Given the description of an element on the screen output the (x, y) to click on. 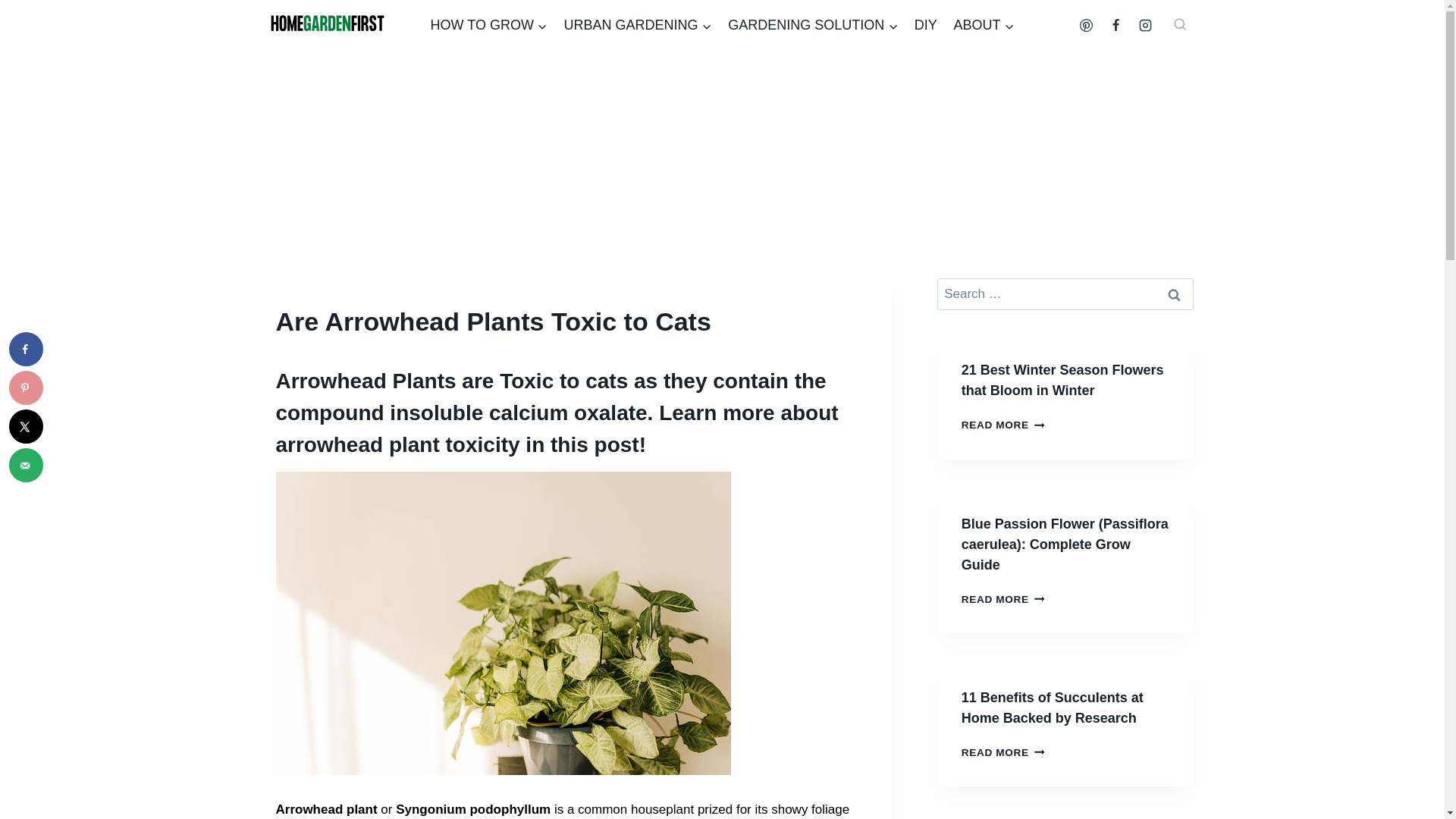
HOW TO GROW (489, 25)
Share on Facebook (25, 349)
ABOUT (983, 25)
Share on X (25, 426)
Send over email (25, 464)
GARDENING SOLUTION (812, 25)
URBAN GARDENING (638, 25)
Search (1174, 294)
Save to Pinterest (25, 387)
